Given the description of an element on the screen output the (x, y) to click on. 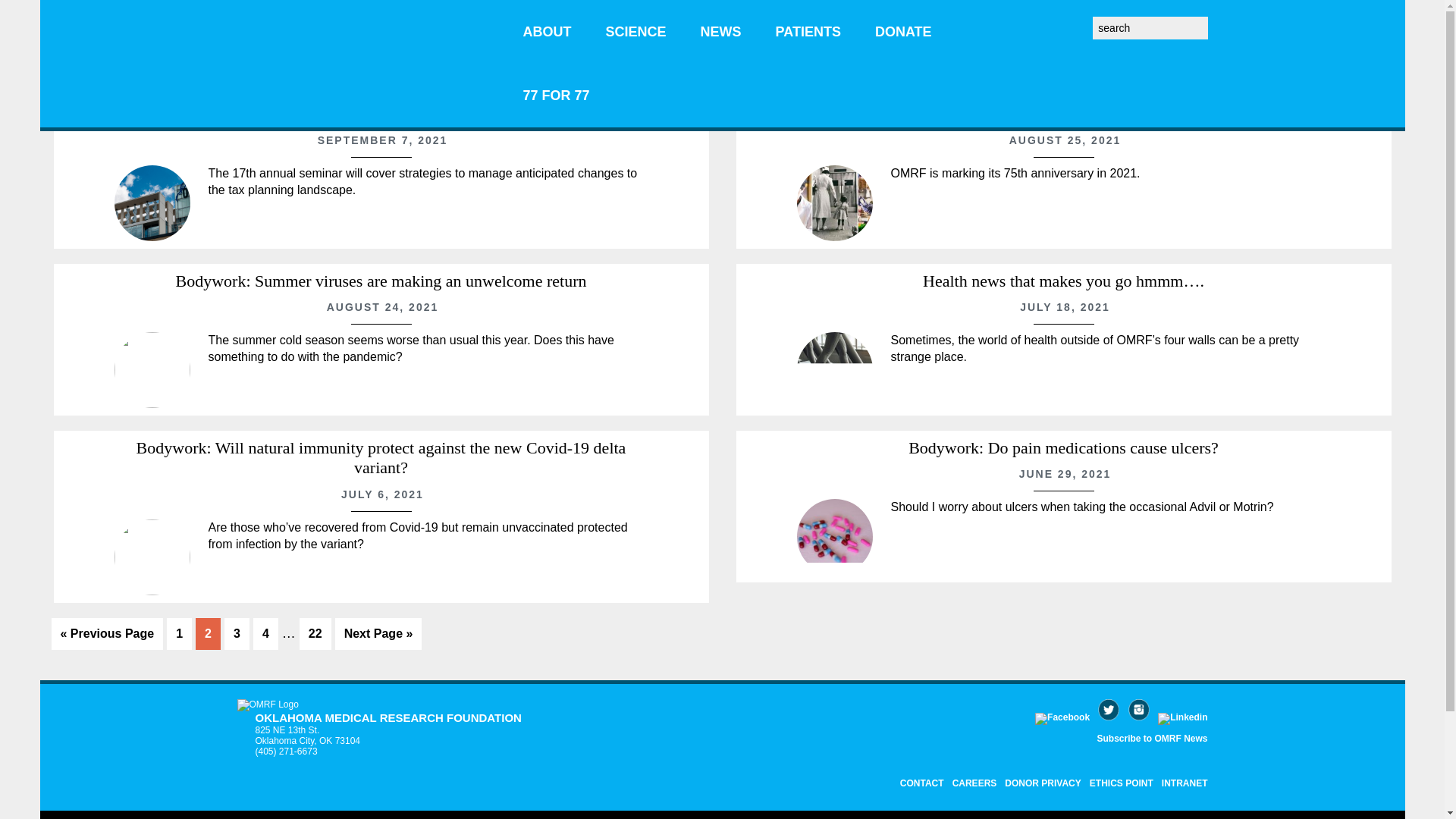
NEWS (721, 31)
Search (1212, 21)
PATIENTS (808, 31)
Search (1212, 21)
ABOUT (547, 31)
DONATE (903, 31)
SCIENCE (636, 31)
